Given the description of an element on the screen output the (x, y) to click on. 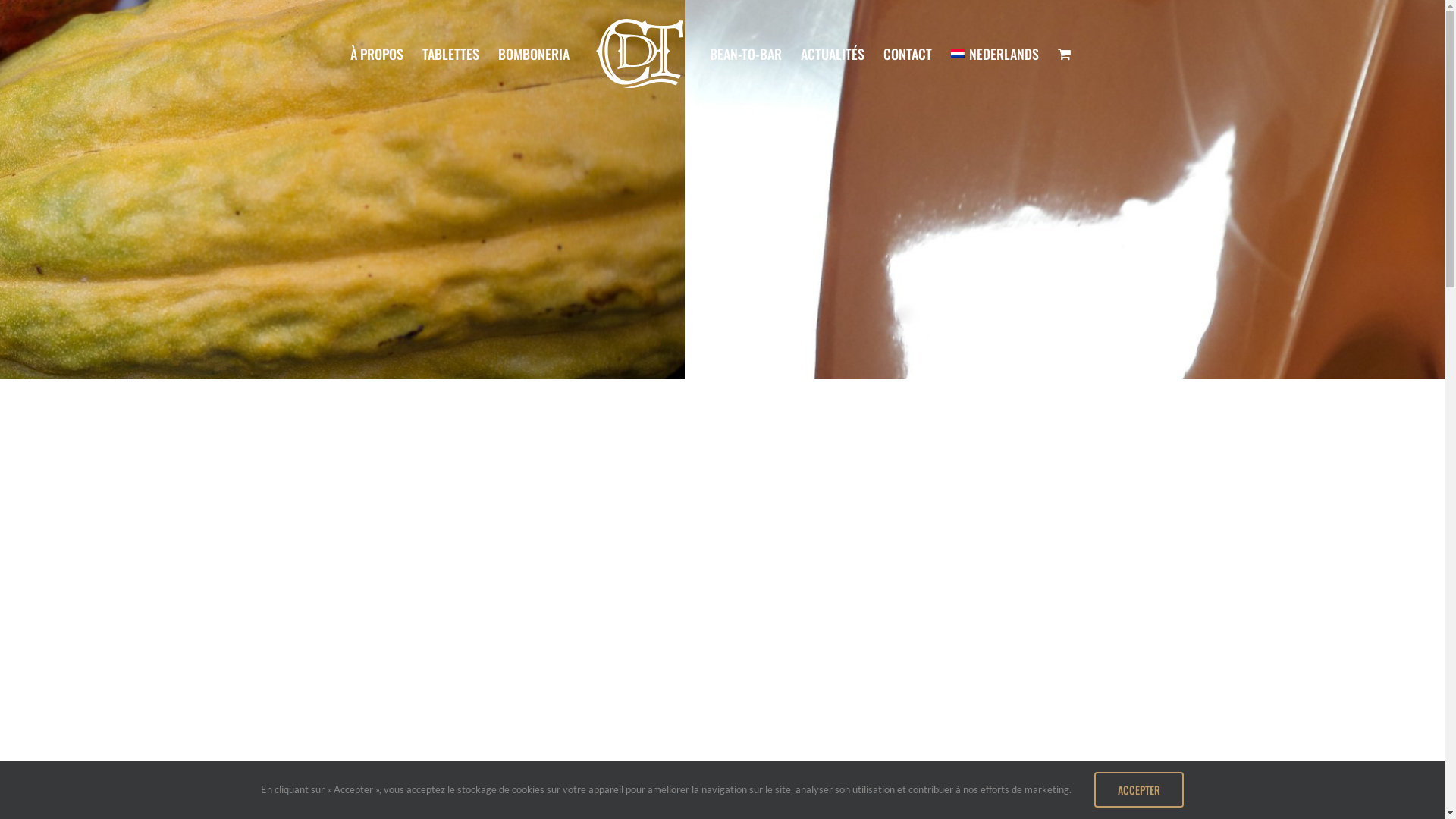
ACCEPTER Element type: text (1138, 789)
NEDERLANDS Element type: text (994, 53)
CONTACT Element type: text (907, 53)
BEAN-TO-BAR Element type: text (745, 53)
BOMBONERIA Element type: text (533, 53)
TABLETTES Element type: text (450, 53)
